Given the description of an element on the screen output the (x, y) to click on. 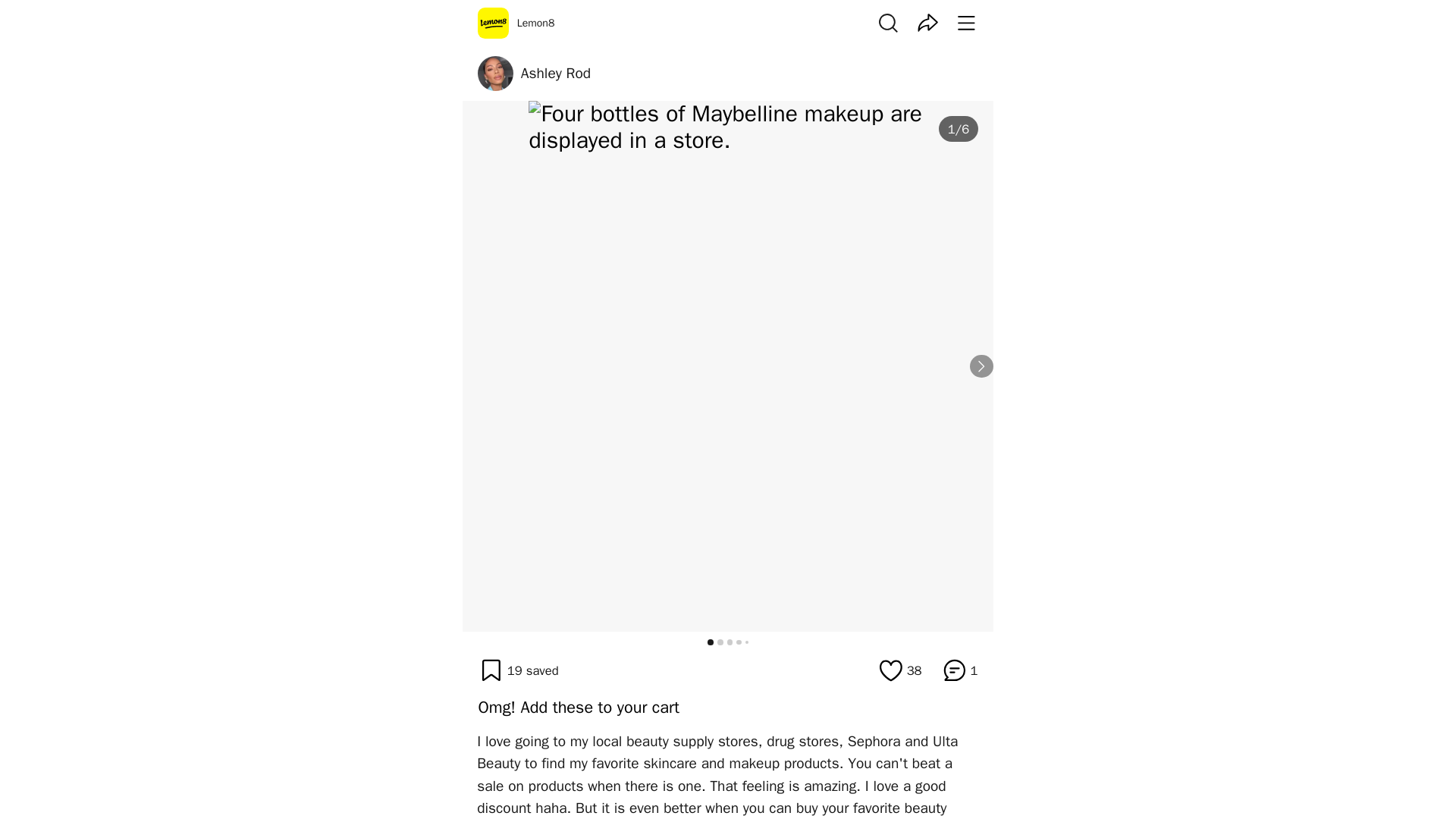
Ashley Rod (556, 73)
